Given the description of an element on the screen output the (x, y) to click on. 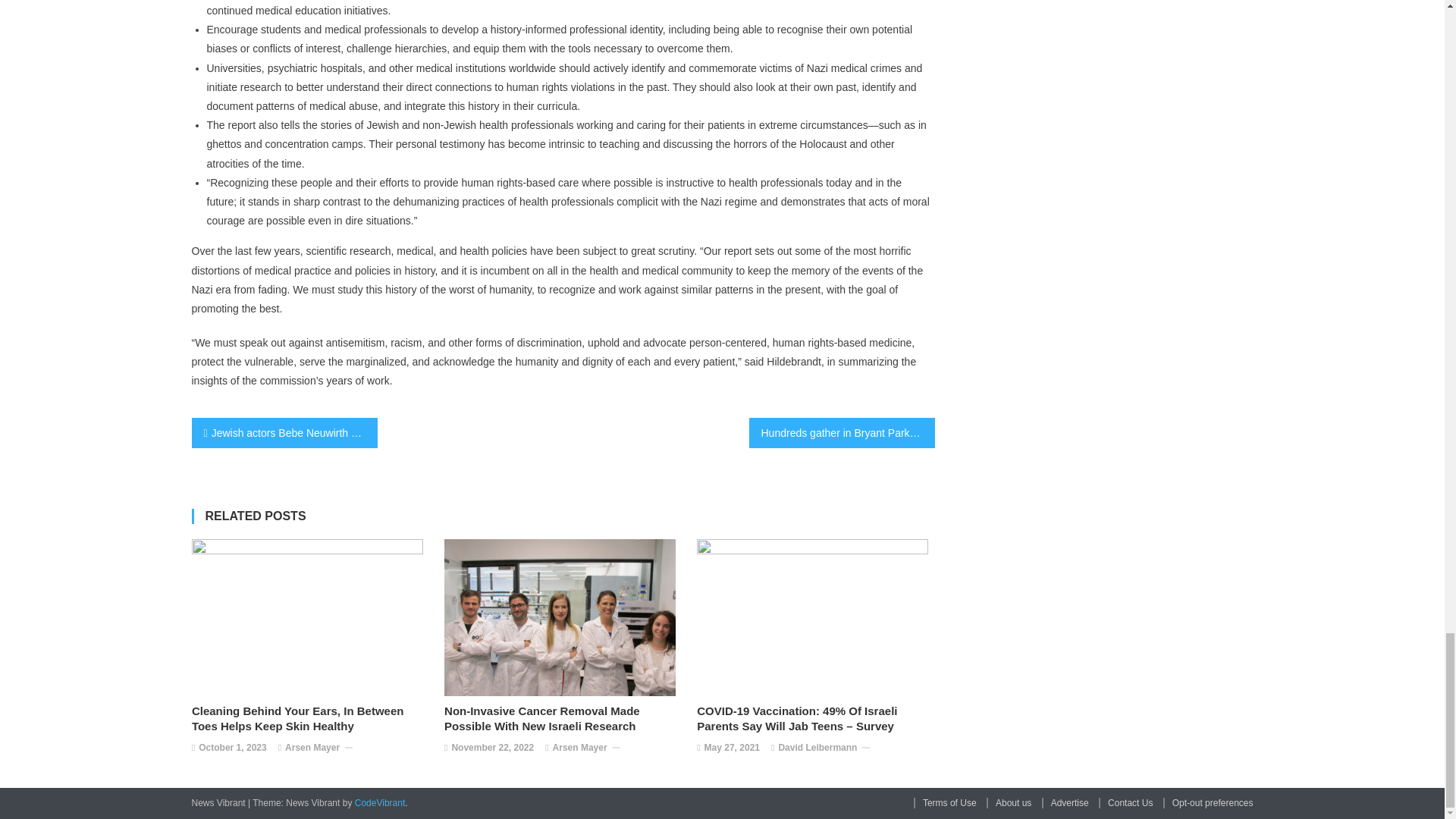
Arsen Mayer (312, 748)
May 27, 2021 (732, 748)
November 22, 2022 (492, 748)
David Leibermann (817, 748)
October 1, 2023 (232, 748)
Arsen Mayer (580, 748)
